Given the description of an element on the screen output the (x, y) to click on. 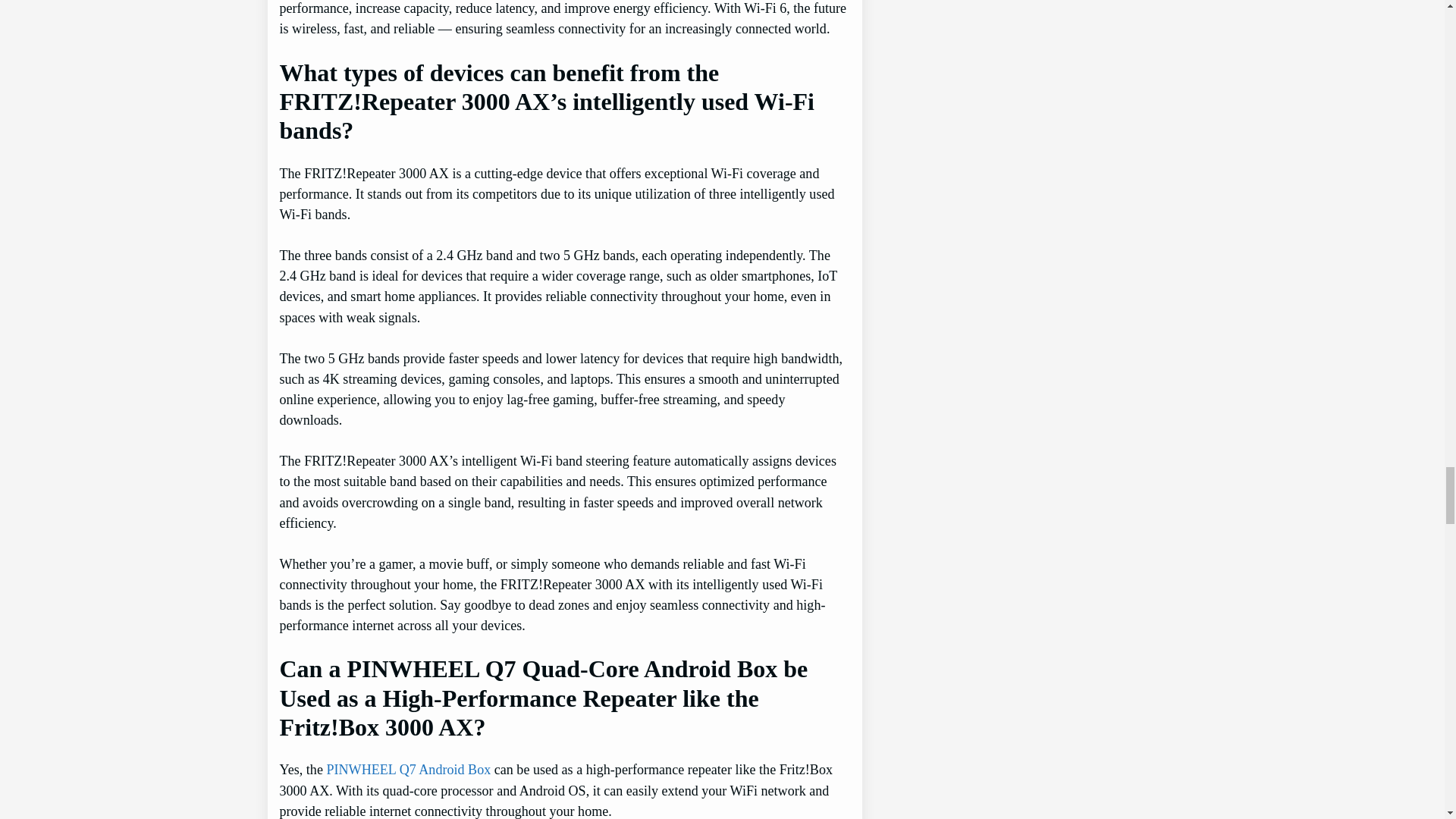
PINWHEEL Q7 Android Box (408, 769)
